Given the description of an element on the screen output the (x, y) to click on. 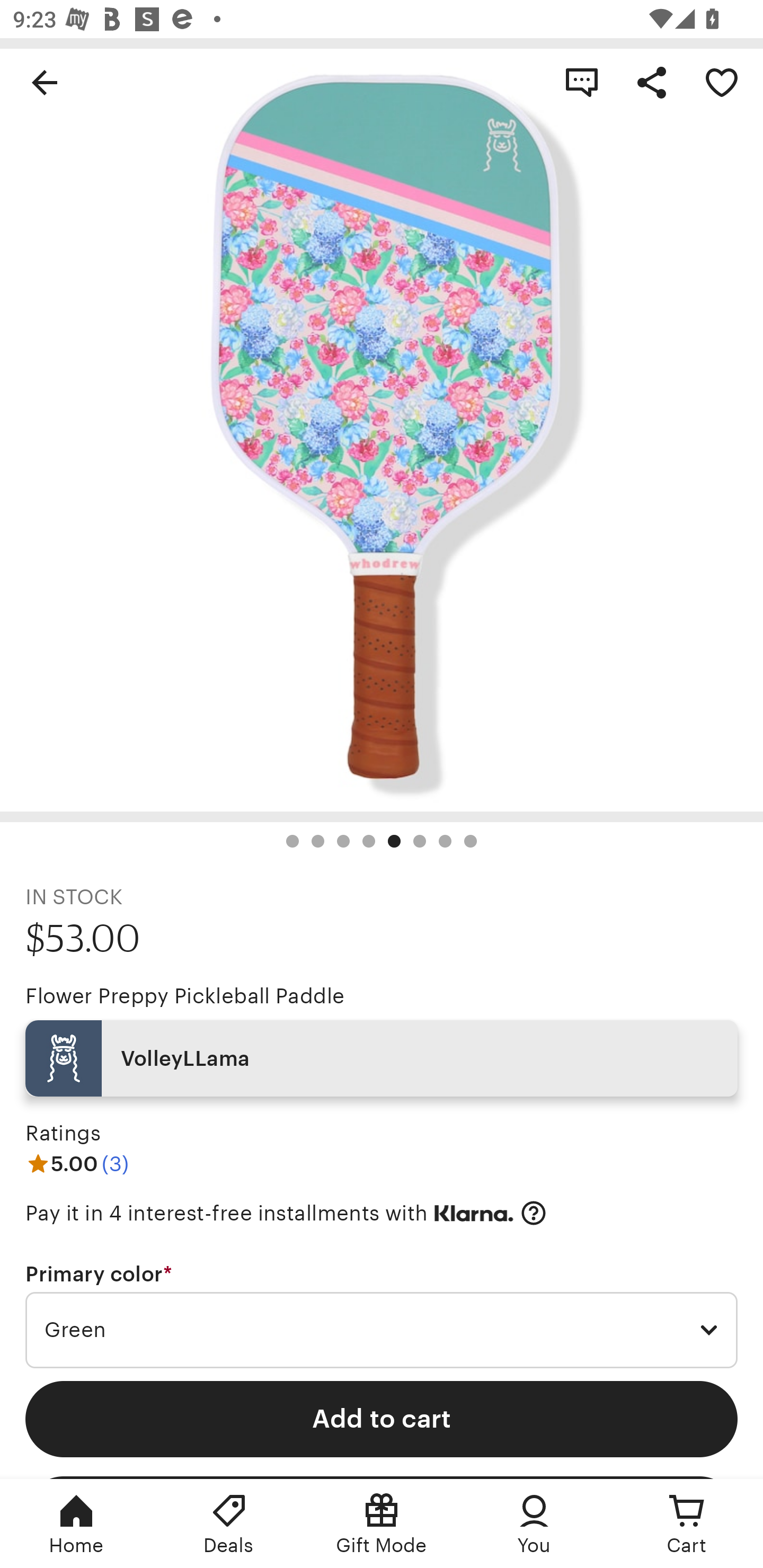
Navigate up (44, 81)
Contact shop (581, 81)
Share (651, 81)
Flower Preppy Pickleball Paddle (184, 996)
VolleyLLama (381, 1058)
Ratings (62, 1133)
5.00 (3) (76, 1163)
Primary color * Required Green (381, 1315)
Green (381, 1330)
Add to cart (381, 1418)
Deals (228, 1523)
Gift Mode (381, 1523)
You (533, 1523)
Cart (686, 1523)
